Given the description of an element on the screen output the (x, y) to click on. 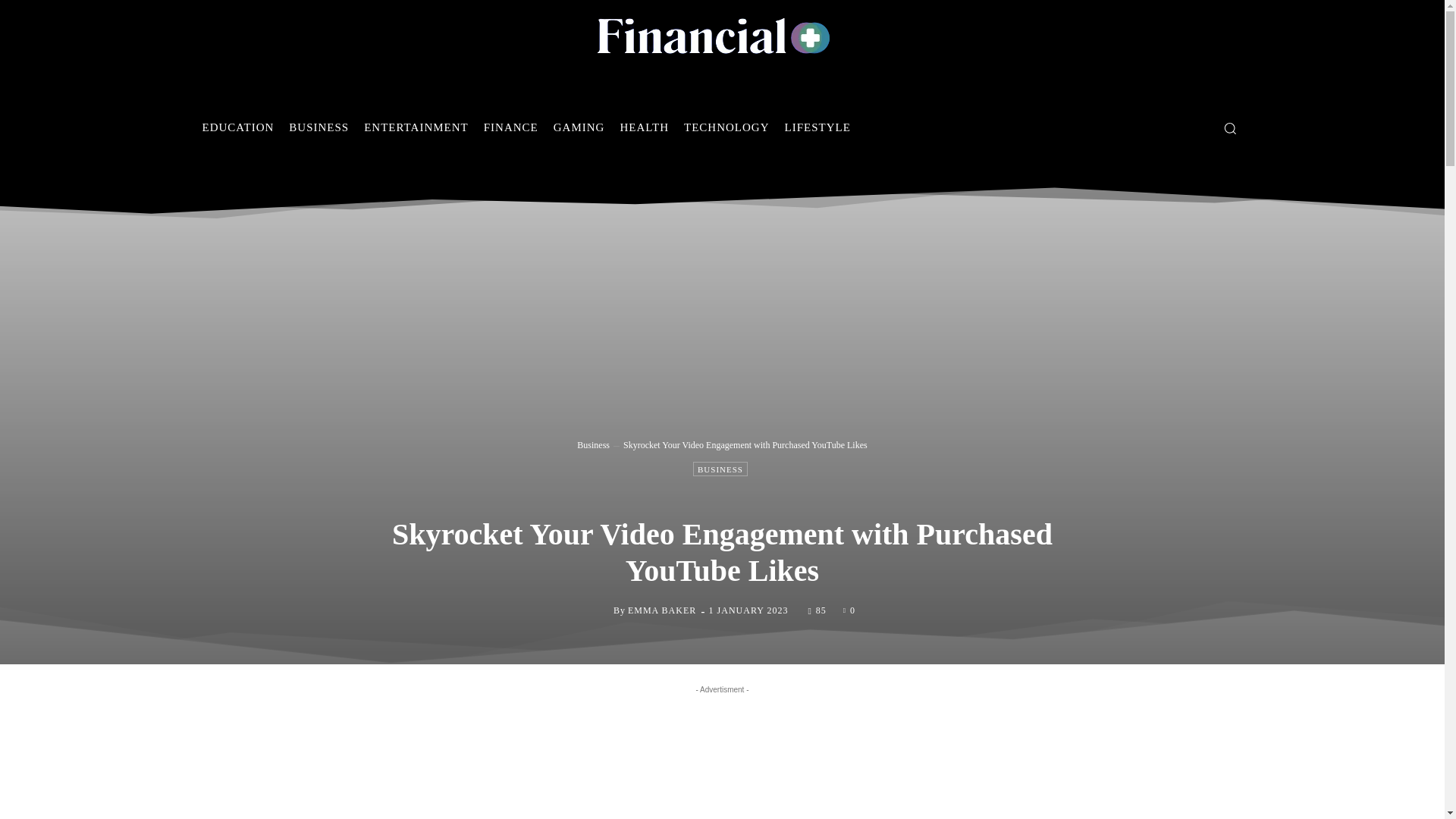
ENTERTAINMENT (416, 126)
FINANCE (511, 126)
BUSINESS (318, 126)
HEALTH (644, 126)
Emma Baker (600, 609)
GAMING (579, 126)
View all posts in Business (593, 444)
TECHNOLOGY (727, 126)
BUSINESS (720, 468)
LIFESTYLE (818, 126)
EMMA BAKER (661, 610)
Business (593, 444)
EDUCATION (237, 126)
0 (849, 609)
